Given the description of an element on the screen output the (x, y) to click on. 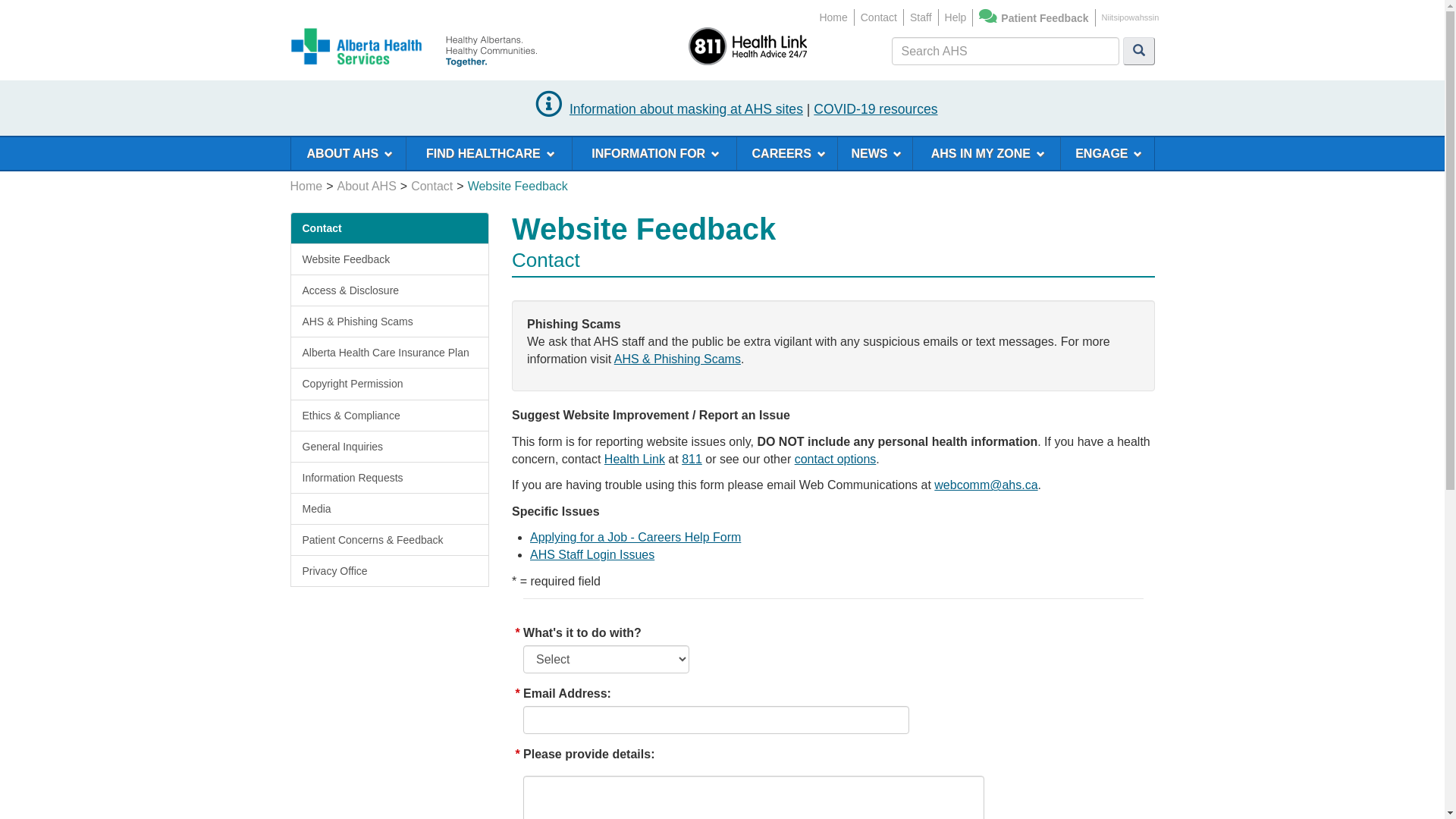
Alberta Health Care Insurance Plan Element type: text (389, 352)
Health Link Element type: text (634, 458)
Website Feedback Element type: text (389, 259)
CAREERS Element type: text (786, 153)
contact options Element type: text (835, 458)
ABOUT AHS Element type: text (347, 153)
Staff Element type: text (920, 17)
Information about masking at AHS sites Element type: text (686, 108)
Contact Element type: text (431, 185)
Privacy Office Element type: text (389, 570)
FIND HEALTHCARE Element type: text (488, 153)
Ethics & Compliance Element type: text (389, 415)
Home Element type: text (305, 185)
811 Element type: text (691, 458)
Contact Element type: text (878, 17)
Media Element type: text (389, 508)
Patient Feedback Element type: text (1044, 18)
ENGAGE Element type: text (1107, 153)
COVID-19 resources Element type: text (875, 108)
AHS & Phishing Scams Element type: text (389, 321)
webcomm@ahs.ca Element type: text (985, 484)
NEWS Element type: text (874, 153)
Access & Disclosure Element type: text (389, 290)
AHS IN MY ZONE Element type: text (986, 153)
Contact Element type: text (321, 228)
Information Requests Element type: text (389, 477)
Help Element type: text (955, 17)
AHS Staff Login Issues Element type: text (592, 554)
About AHS Element type: text (366, 185)
Applying for a Job - Careers Help Form Element type: text (635, 536)
Patient Concerns & Feedback Element type: text (389, 539)
AHS & Phishing Scams Element type: text (677, 358)
INFORMATION FOR Element type: text (653, 153)
General Inquiries Element type: text (389, 446)
Home Element type: text (833, 17)
Copyright Permission Element type: text (389, 383)
